Given the description of an element on the screen output the (x, y) to click on. 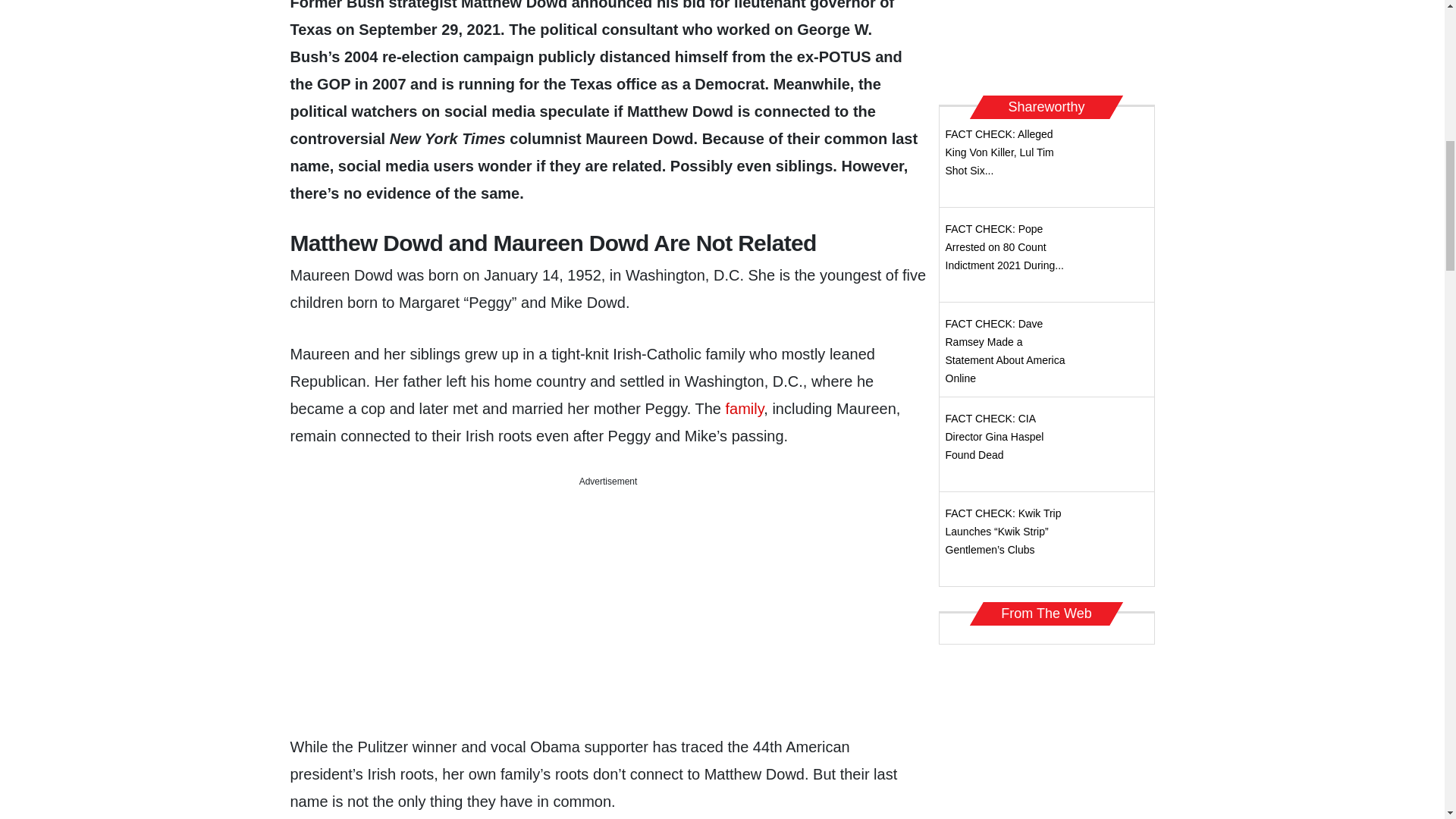
FACT CHECK: CIA Director Gina Haspel Found Dead (993, 436)
family (744, 408)
FACT CHECK: Alleged King Von Killer, Lul Tim Shot Six... (998, 151)
